Given the description of an element on the screen output the (x, y) to click on. 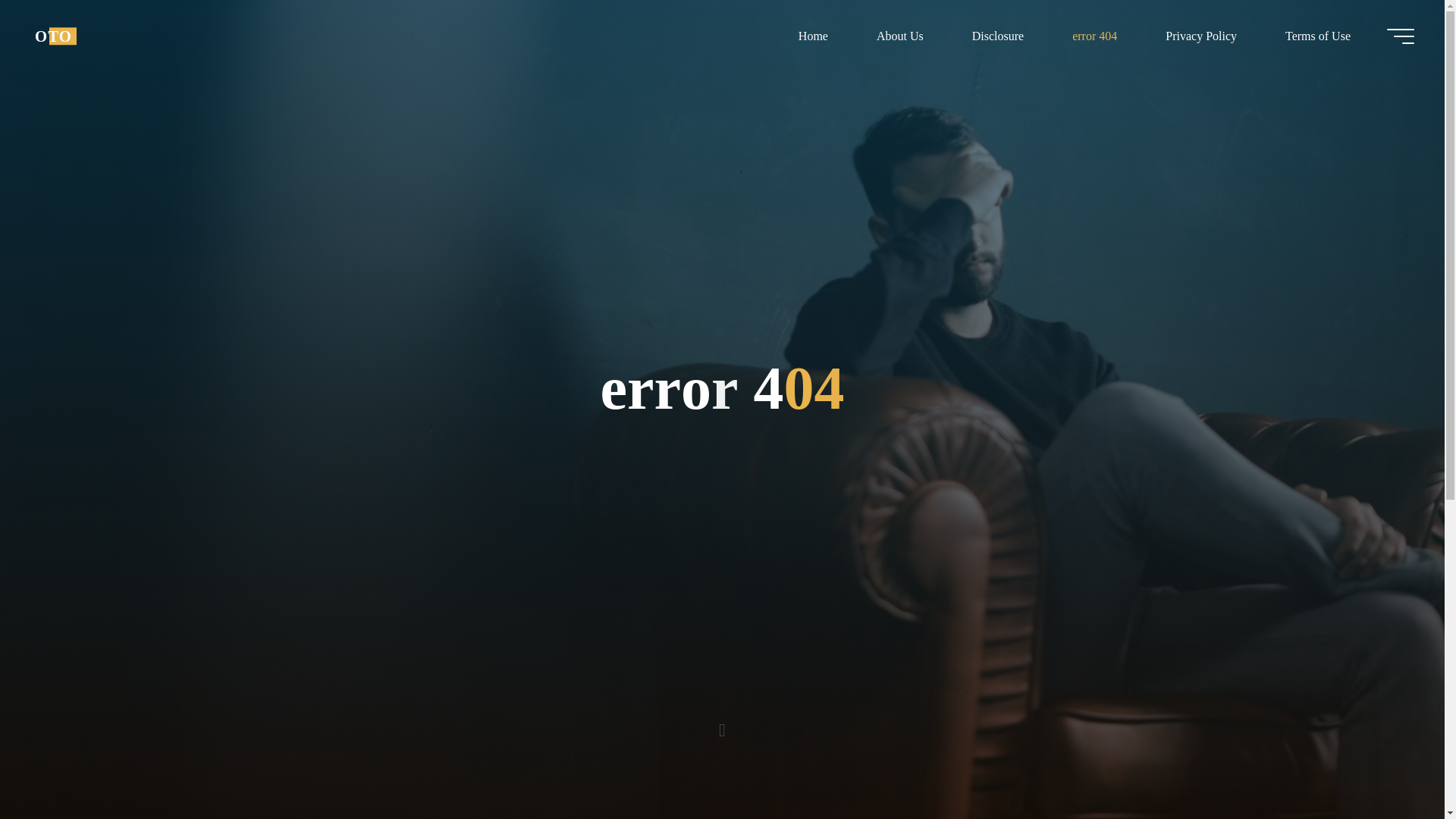
Disclosure (997, 35)
Privacy Policy (1200, 35)
Read more (721, 724)
OTO (53, 36)
About Us (899, 35)
error 404 (1094, 35)
Terms of Use (1317, 35)
Home (812, 35)
